Given the description of an element on the screen output the (x, y) to click on. 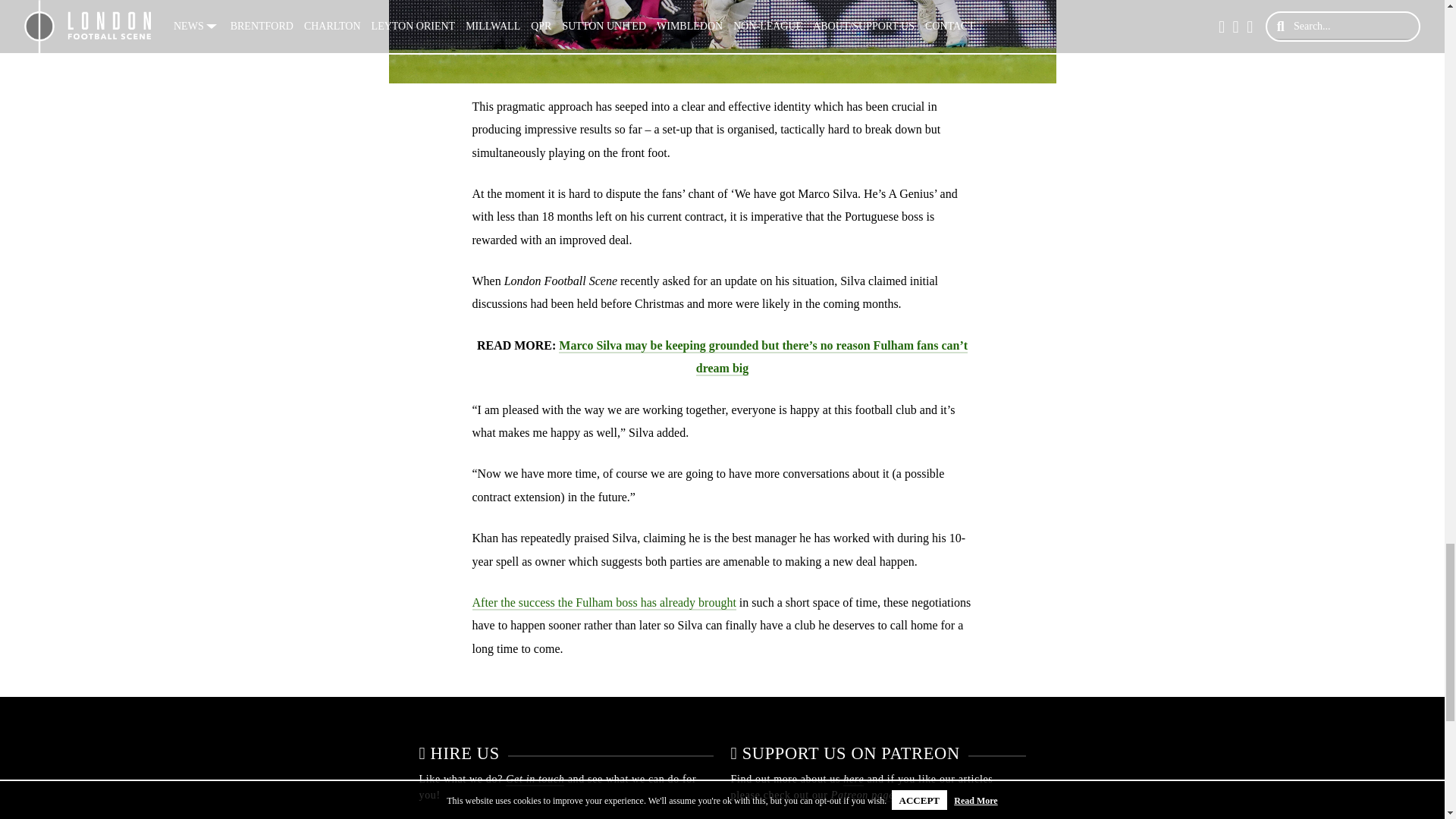
After the success the Fulham boss has already brought (603, 603)
